Given the description of an element on the screen output the (x, y) to click on. 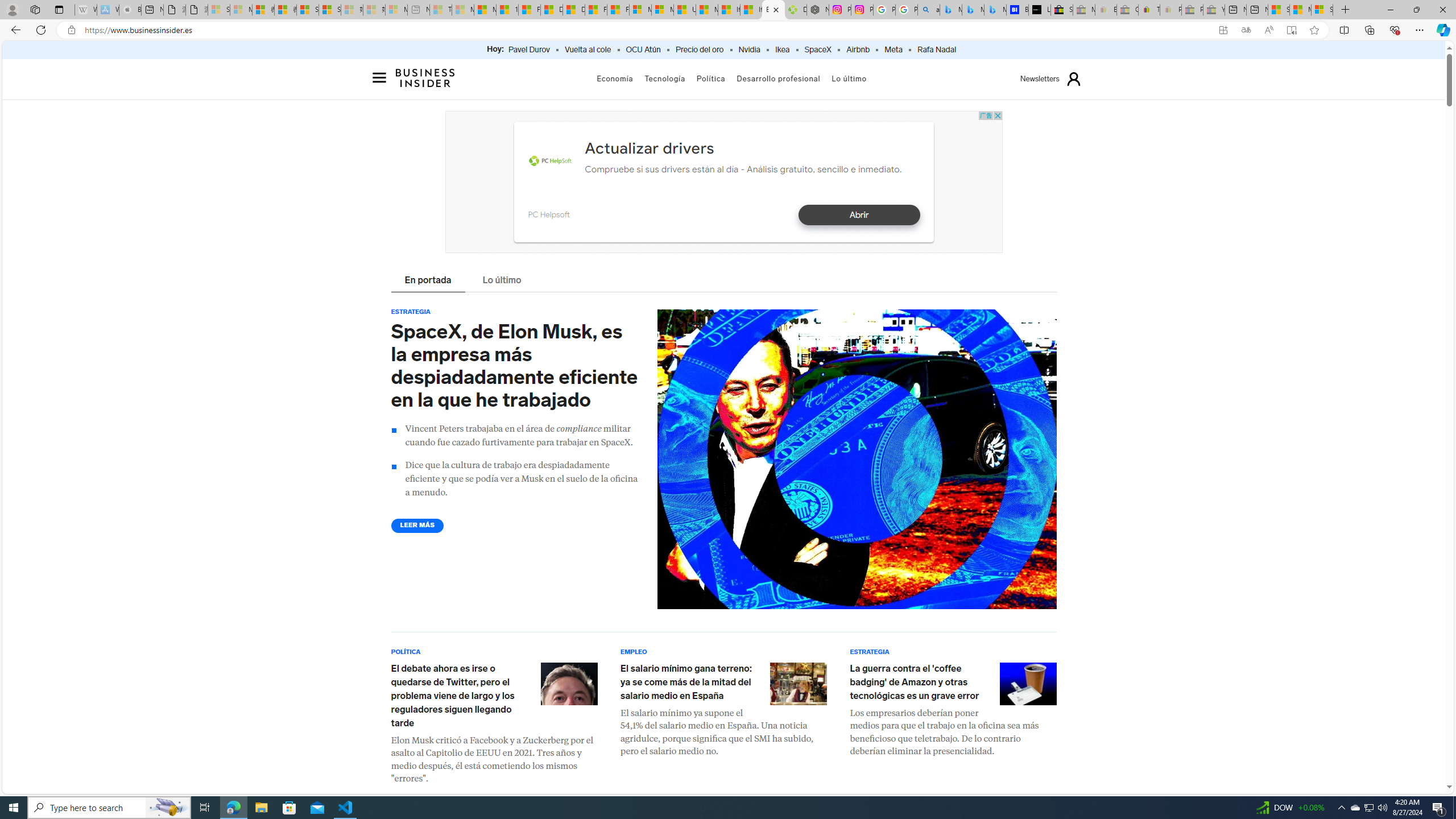
Rafa Nadal (936, 49)
Coffee Badgings (1027, 683)
SpaceX (817, 49)
Enter Immersive Reader (F9) (1291, 29)
Threats and offensive language policy | eBay (1149, 9)
Shanghai, China hourly forecast | Microsoft Weather (1278, 9)
